Given the description of an element on the screen output the (x, y) to click on. 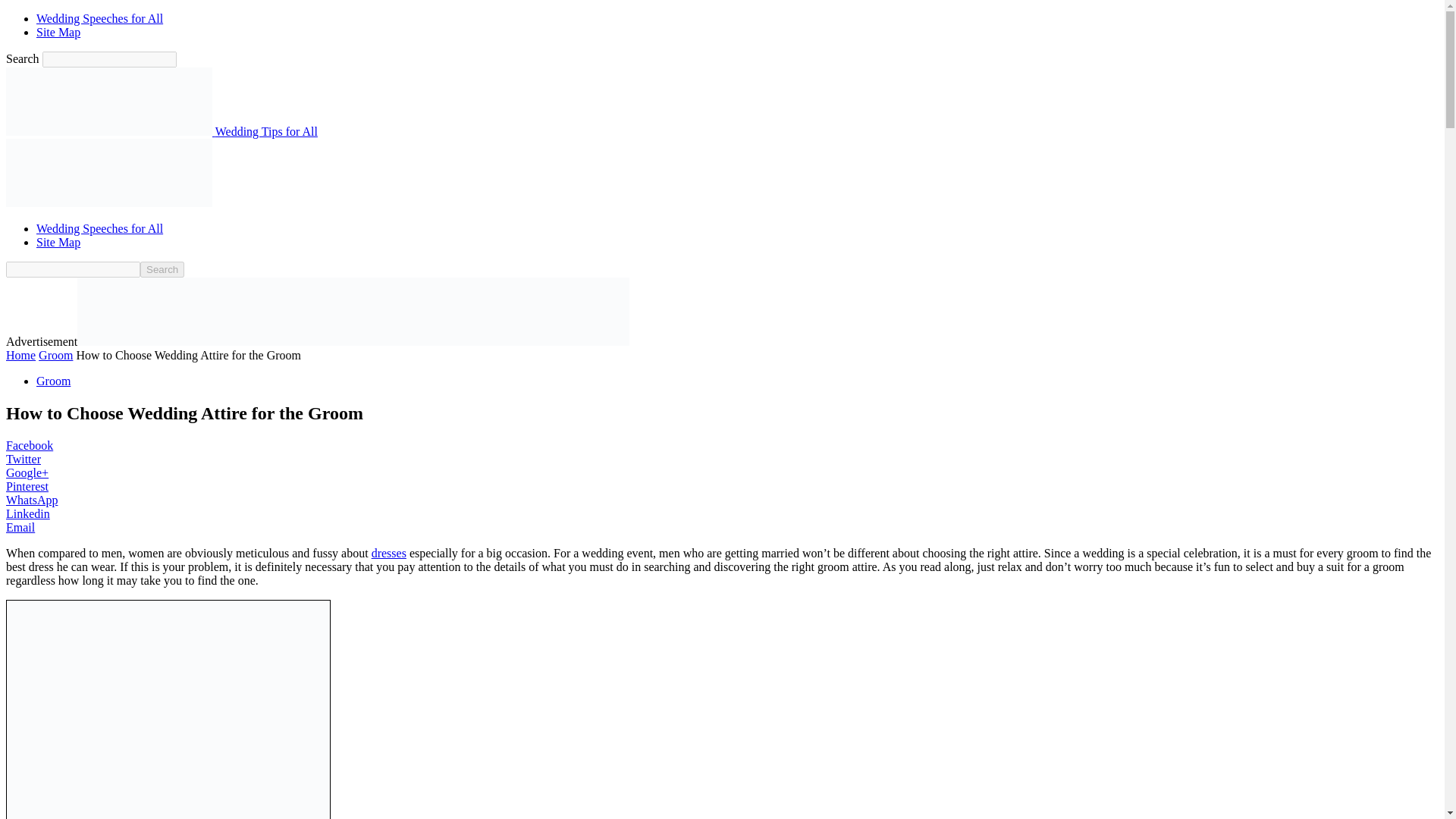
Wedding Speeches for All (99, 18)
Home (19, 354)
dresses (388, 553)
View all posts in Groom (55, 354)
Search (161, 269)
Site Map (58, 31)
Groom (55, 354)
Site Map (58, 241)
Groom (52, 380)
Wedding Tips for All (161, 131)
